Given the description of an element on the screen output the (x, y) to click on. 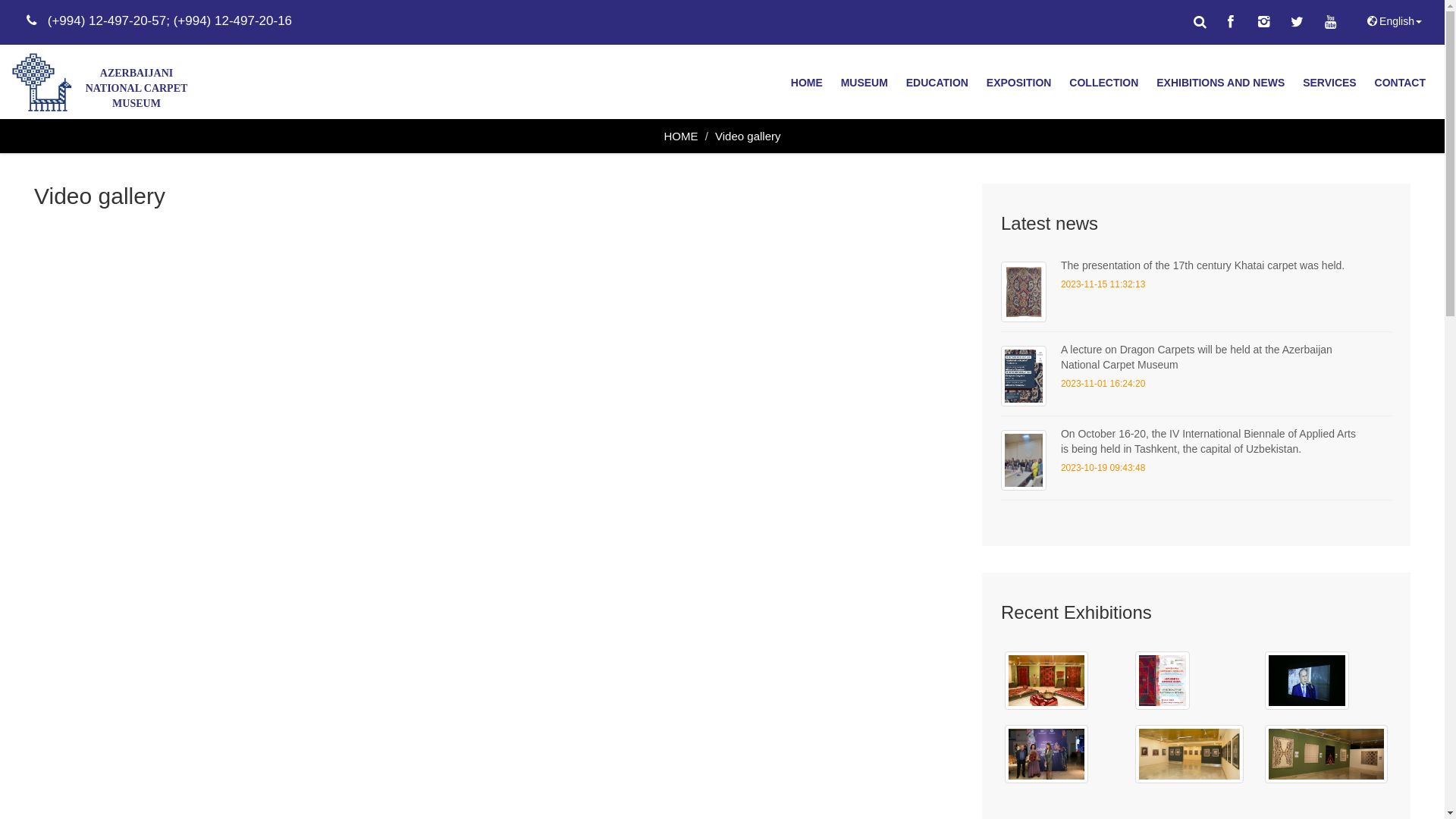
COLLECTION Element type: text (1103, 82)
EDUCATION Element type: text (936, 82)
AZERBAIJANI NATIONAL CARPET MUSEUM Element type: text (104, 81)
EXHIBITIONS AND NEWS Element type: text (1220, 82)
HOME Element type: text (806, 82)
SERVICES Element type: text (1329, 82)
EXPOSITION Element type: text (1019, 82)
CONTACT Element type: text (1400, 82)
HOME Element type: text (681, 135)
MUSEUM Element type: text (864, 82)
English Element type: text (1392, 21)
Video gallery Element type: text (747, 135)
The presentation of the 17th century Khatai carpet was held. Element type: text (1202, 265)
